Given the description of an element on the screen output the (x, y) to click on. 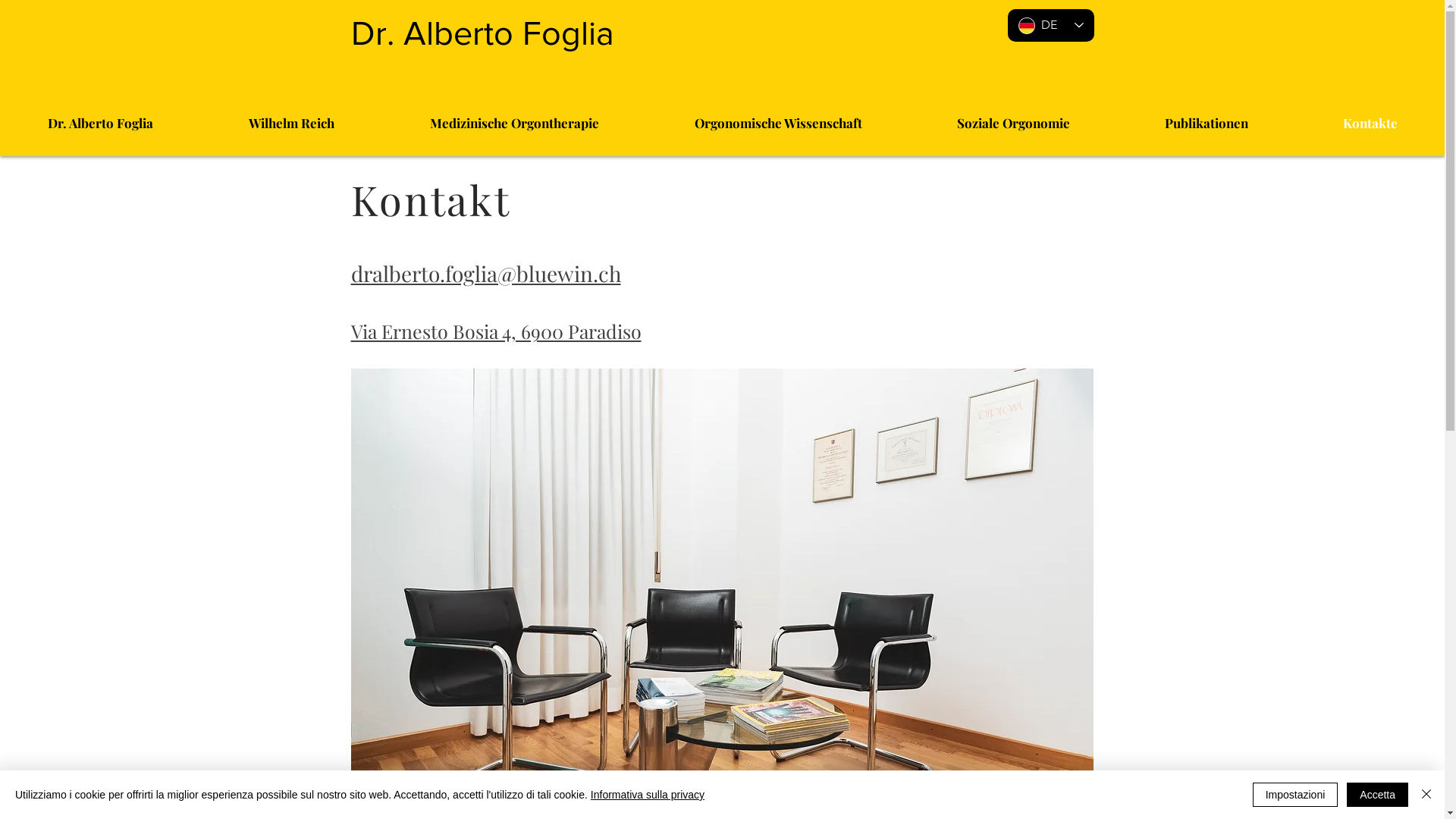
Kontakte Element type: text (1369, 122)
Soziale Orgonomie Element type: text (1013, 122)
Dr. Alberto Foglia Element type: text (481, 28)
Dr. Alberto Foglia Element type: text (100, 122)
Accetta Element type: text (1377, 794)
Via Ernesto Bosia 4, 6900 Paradiso Element type: text (495, 331)
Orgonomische Wissenschaft Element type: text (777, 122)
Informativa sulla privacy Element type: text (647, 794)
Wilhelm Reich Element type: text (291, 122)
dralberto.foglia@bluewin.ch Element type: text (485, 274)
Medizinische Orgontherapie Element type: text (514, 122)
Impostazioni Element type: text (1295, 794)
Publikationen Element type: text (1206, 122)
